Given the description of an element on the screen output the (x, y) to click on. 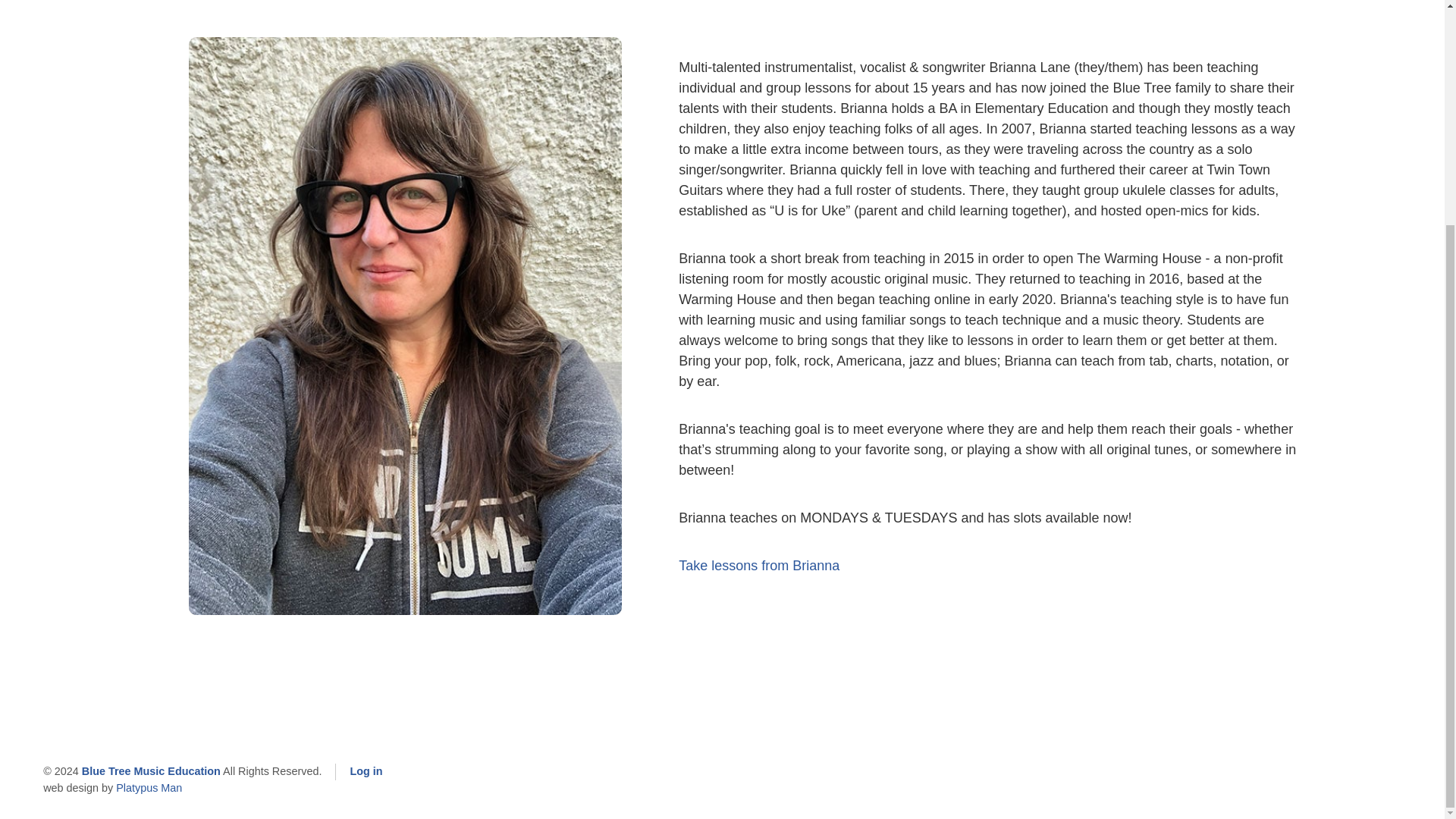
Log in (365, 771)
Platypus Man (149, 788)
Blue Tree Music Education (151, 771)
Take lessons from Brianna (759, 565)
